Given the description of an element on the screen output the (x, y) to click on. 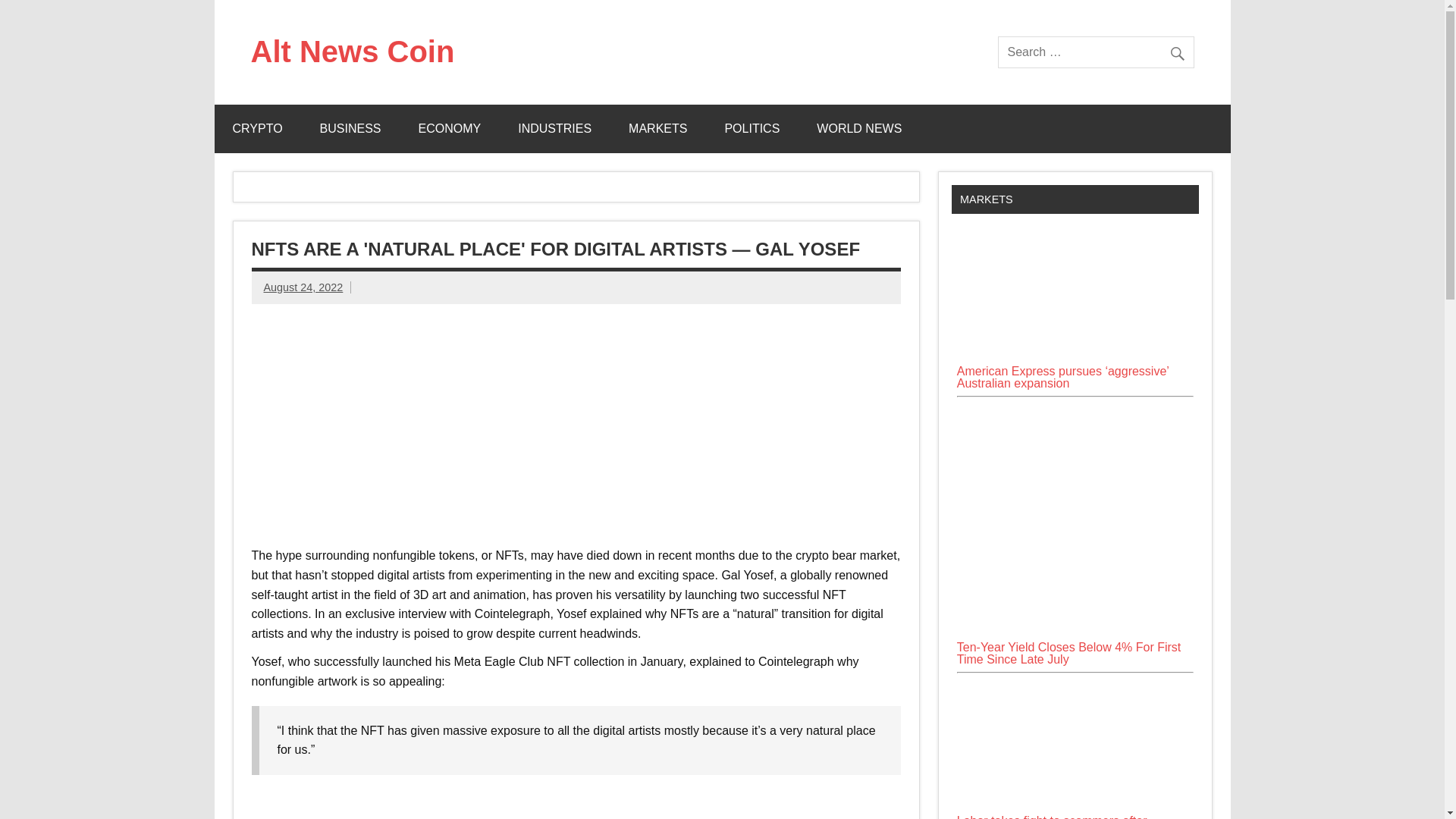
Alt News Coin (352, 51)
9:38 pm (303, 287)
WORLD NEWS (858, 128)
CRYPTO (256, 128)
INDUSTRIES (554, 128)
POLITICS (751, 128)
August 24, 2022 (303, 287)
BUSINESS (349, 128)
ECONOMY (449, 128)
MARKETS (657, 128)
